Given the description of an element on the screen output the (x, y) to click on. 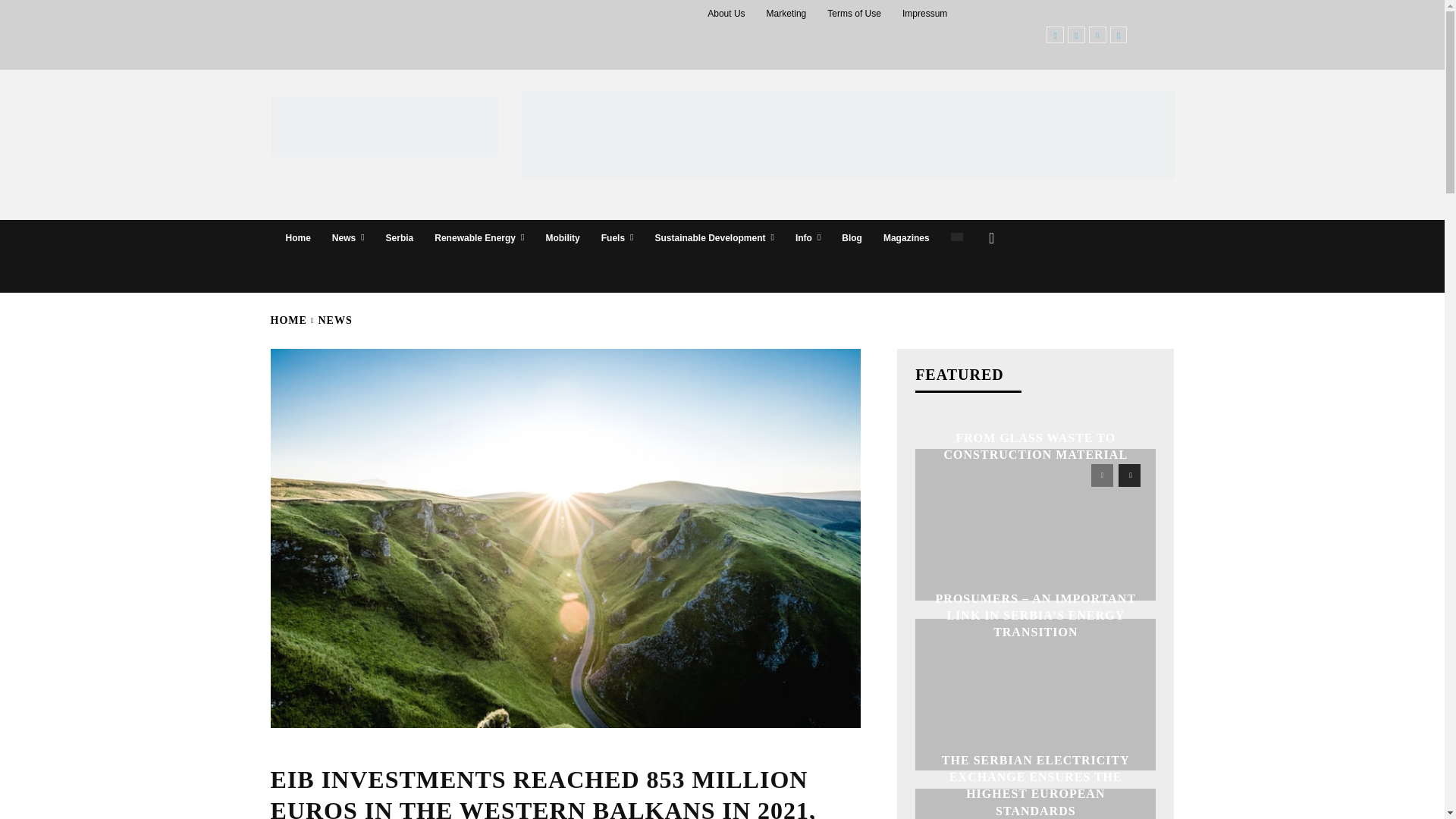
View all posts in News (335, 319)
Facebook (1055, 35)
Instagram (1075, 35)
Linkedin (1097, 35)
Twitter (1117, 35)
